Given the description of an element on the screen output the (x, y) to click on. 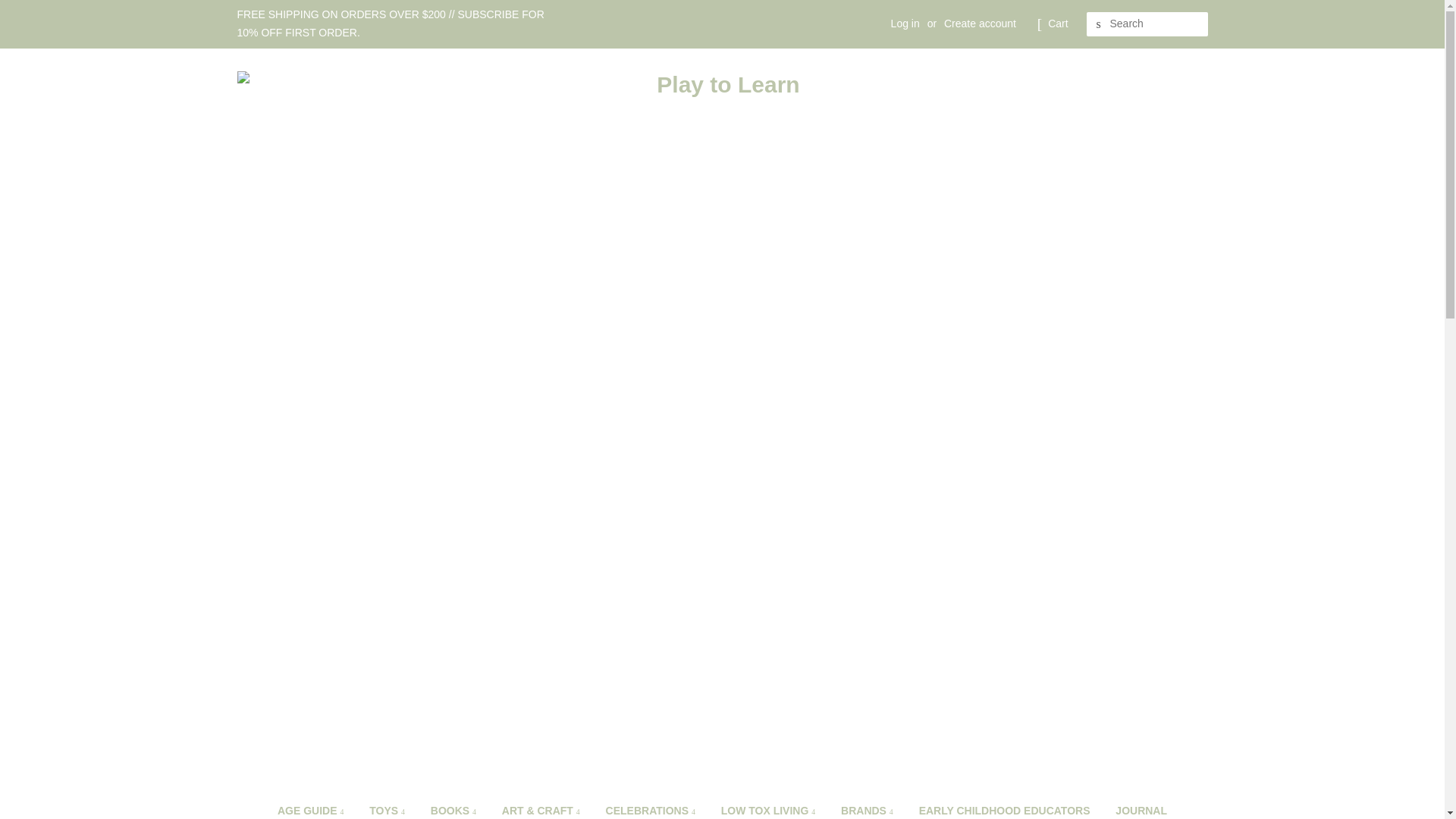
Search (1097, 24)
Log in (905, 23)
Create account (979, 23)
Cart (1057, 24)
